Given the description of an element on the screen output the (x, y) to click on. 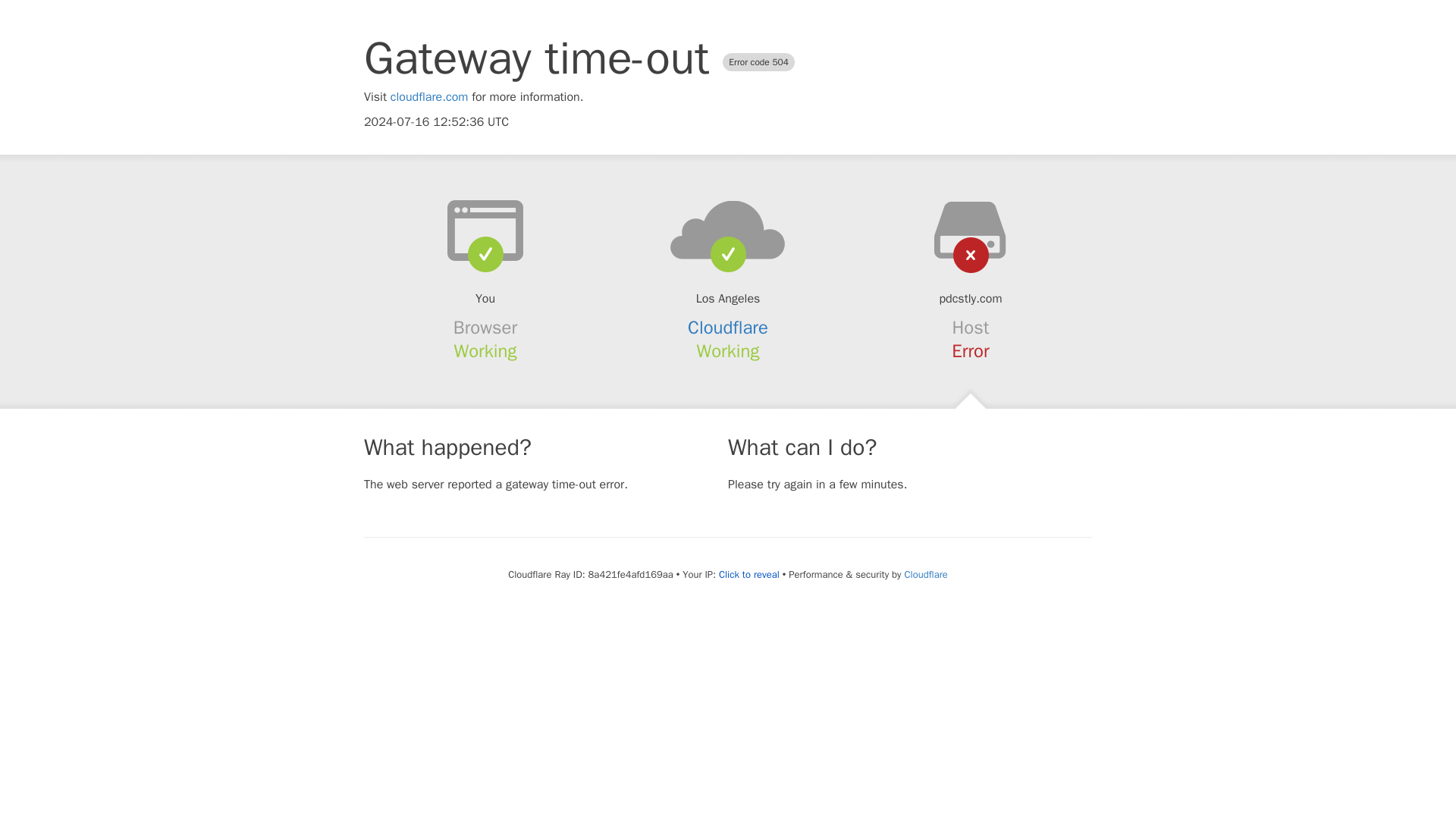
Click to reveal (748, 574)
Cloudflare (925, 574)
Cloudflare (727, 327)
cloudflare.com (429, 96)
